Given the description of an element on the screen output the (x, y) to click on. 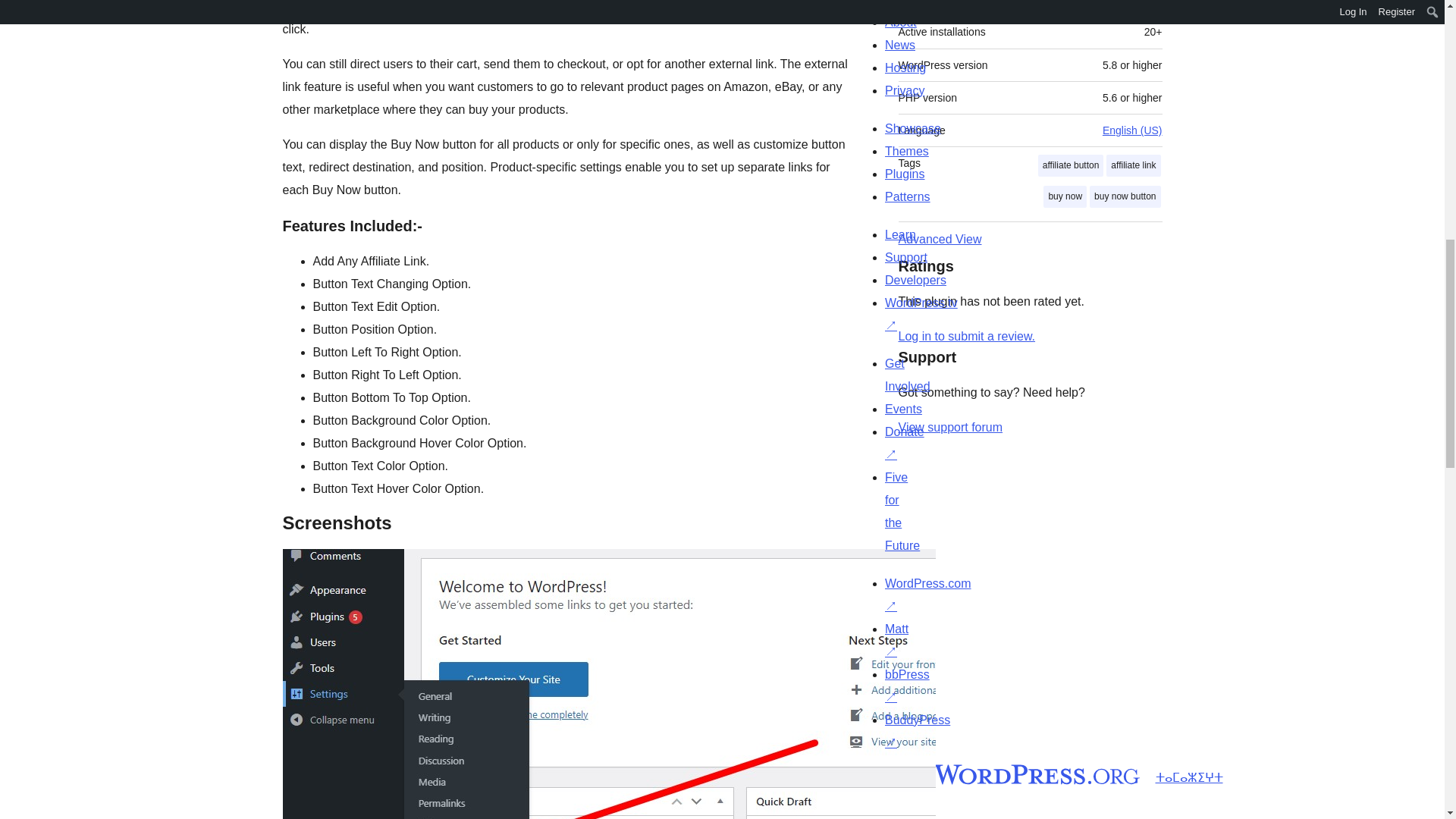
WordPress.org (864, 773)
Log in to WordPress.org (966, 336)
WordPress.org (1014, 773)
